Given the description of an element on the screen output the (x, y) to click on. 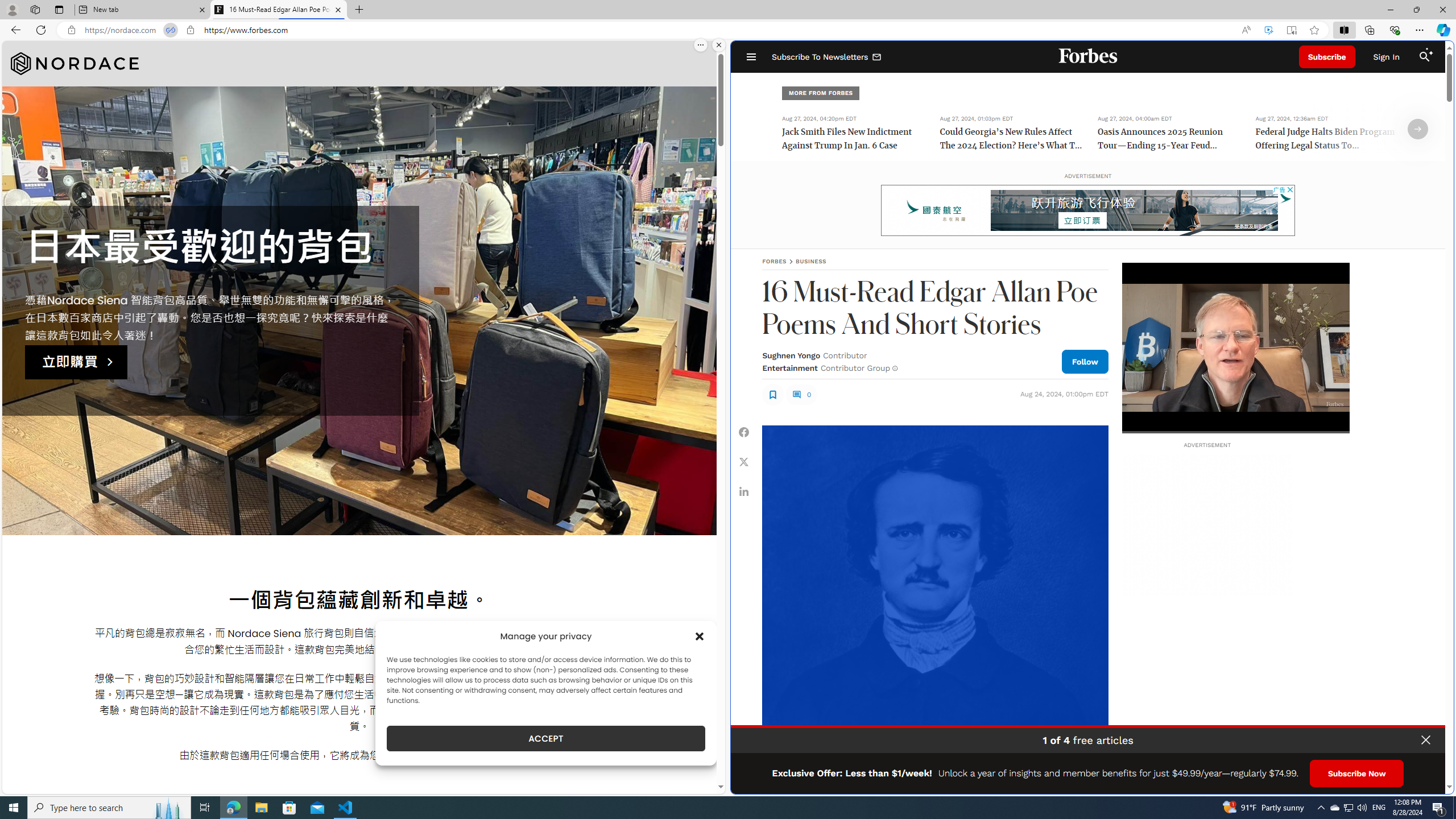
Portrait of Edgar Allan Poe. (934, 598)
Share Twitter (743, 461)
Class: fs-icon fs-icon--info (894, 368)
Address and search bar (658, 29)
Class: sElHJWe4 (772, 394)
View site information (190, 29)
0 (801, 394)
16 Must-Read Edgar Allan Poe Poems And Short Stories (277, 9)
FORBES (774, 261)
Browser essentials (1394, 29)
